Given the description of an element on the screen output the (x, y) to click on. 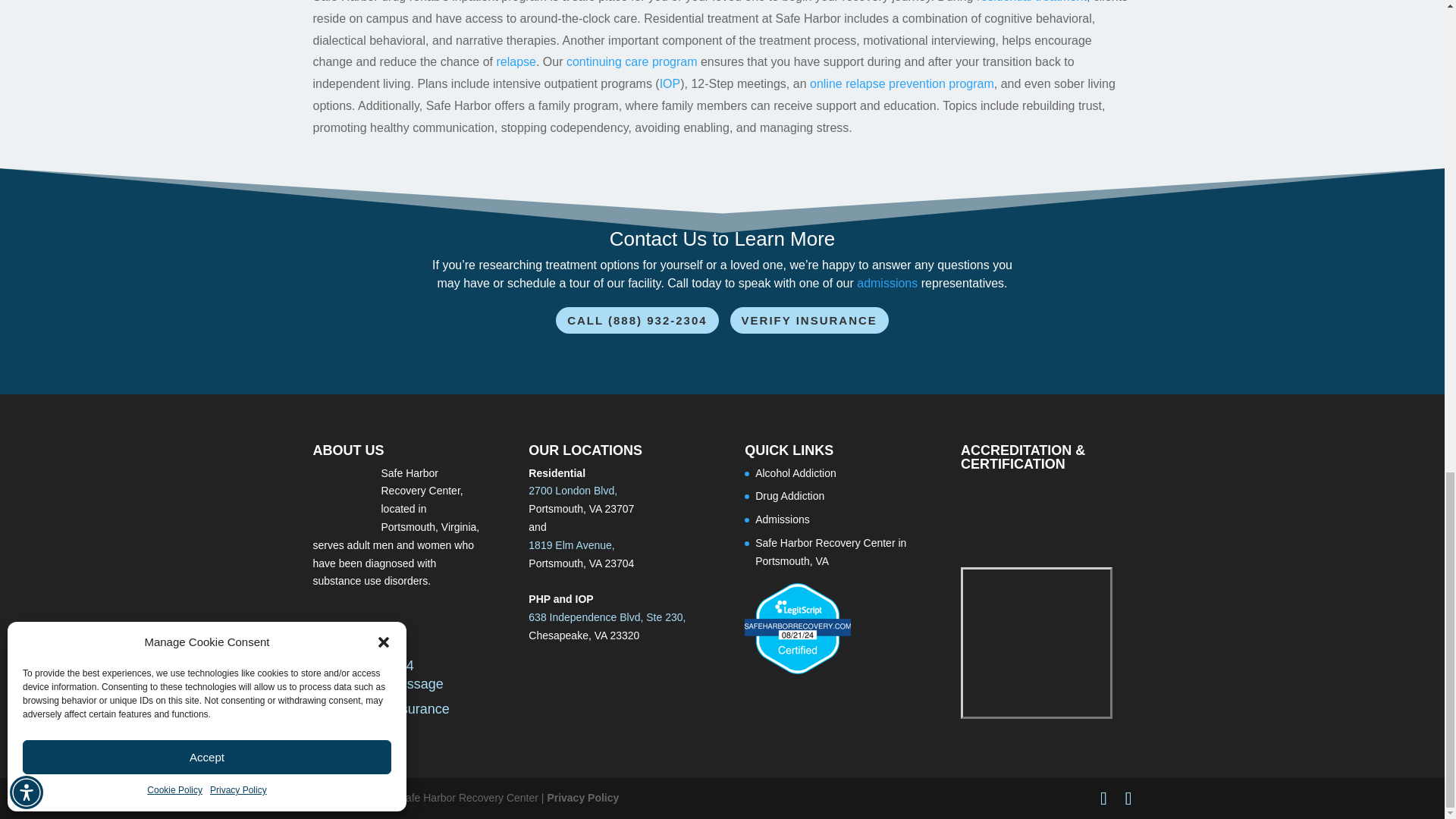
Safe Harbor Behavioral Healthcare (342, 495)
The Joint Commission (1013, 516)
Psych Armor (1036, 643)
Verify LegitScript Approval (797, 670)
